Given the description of an element on the screen output the (x, y) to click on. 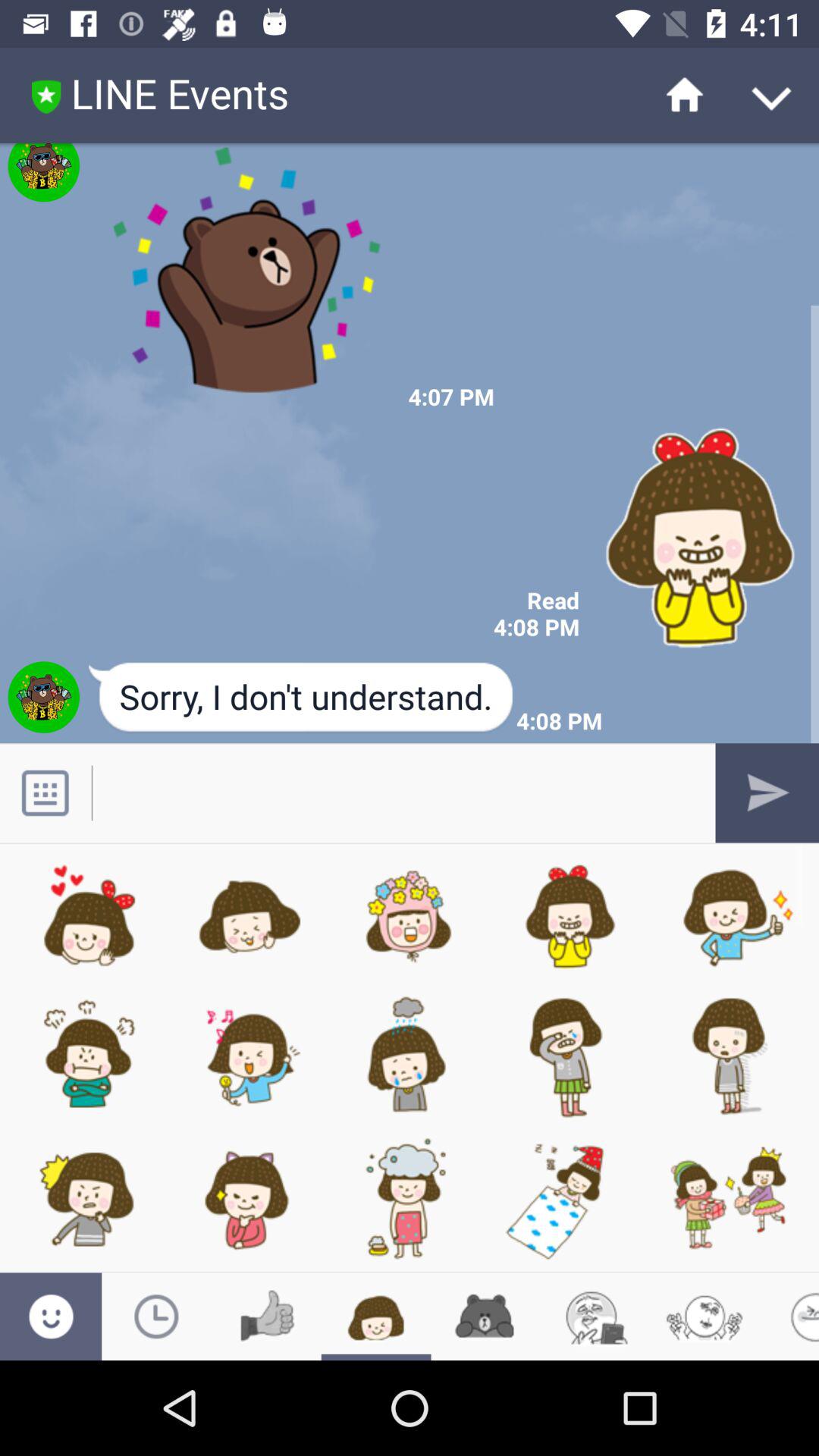
click the icon below 4:08 pm icon (301, 698)
